Given the description of an element on the screen output the (x, y) to click on. 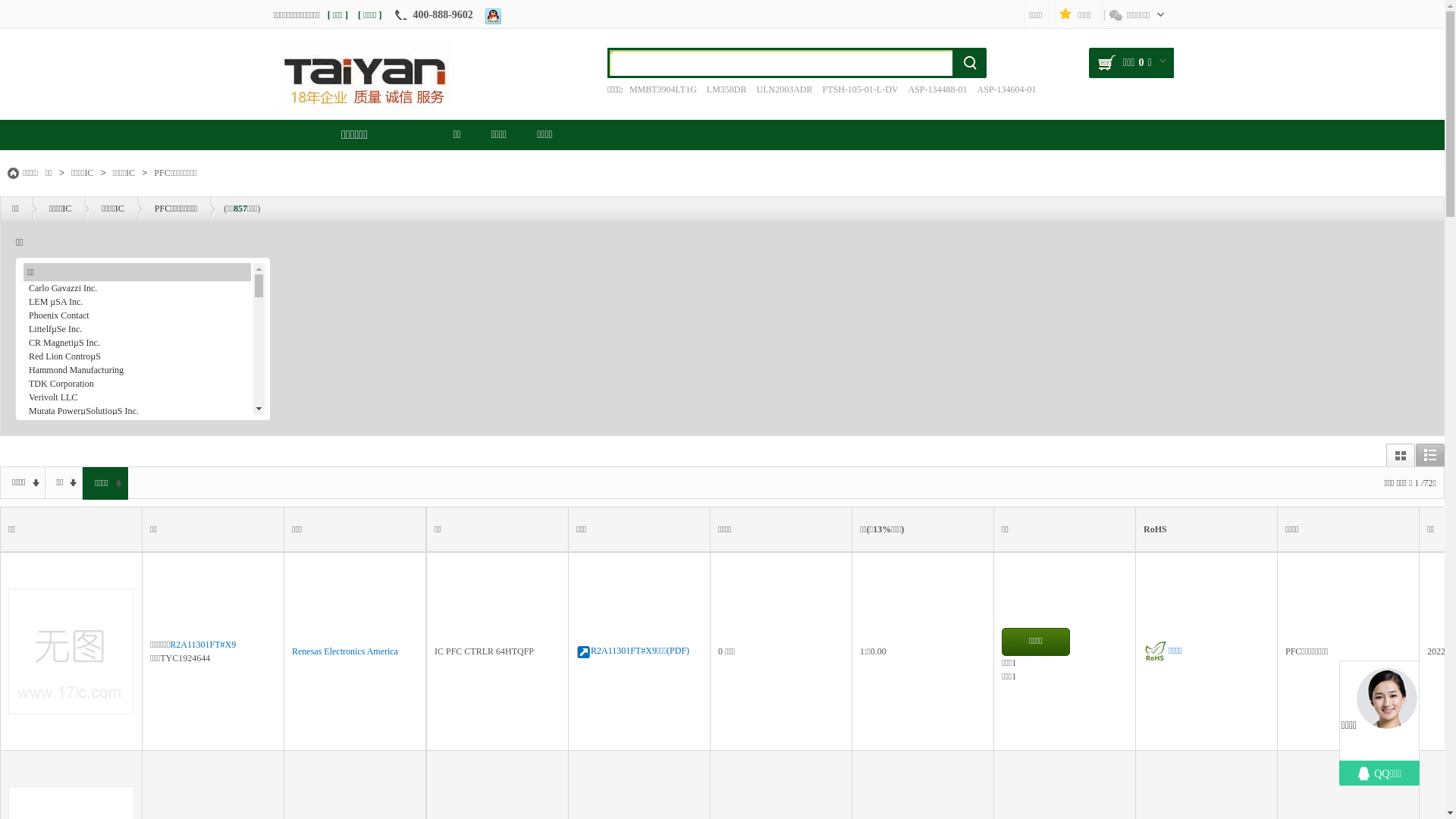
MMBT3904LT1G Element type: text (662, 89)
Renesas Electronics America Element type: text (344, 651)
FTSH-105-01-L-DV Element type: text (859, 89)
LM358DR Element type: text (726, 89)
Acme Electric/Amveco/Actown Element type: text (137, 724)
Hammond Manufacturing Element type: text (137, 369)
Triad Magnetics Element type: text (137, 656)
Pulse Electronics Power Element type: text (137, 752)
TDK Corporation Element type: text (137, 383)
Wurth Electronics Inc. Element type: text (137, 765)
R2A11301FT#X9 Element type: text (202, 644)
Signal Transformer Element type: text (137, 683)
Carlo Gavazzi Inc. Element type: text (137, 287)
TE Connectivity Potter & Brumfield Relays Element type: text (137, 697)
Verivolt LLC Element type: text (137, 397)
Bourns Inc. Element type: text (137, 779)
Seeed Technology Co., Ltd Element type: text (137, 520)
Amgis, LLC Element type: text (137, 670)
Eaton Element type: text (137, 588)
KEMET Element type: text (137, 451)
TE Connectivity Passive Product Element type: text (137, 738)
Tamura Element type: text (137, 615)
Stewart Connector Element type: text (137, 806)
MikroElektronika Element type: text (137, 465)
ASP-134604-01 Element type: text (1006, 89)
Phoenix Contact Element type: text (137, 315)
C-TON Industries Element type: text (137, 793)
ASP-134488-01 Element type: text (936, 89)
API Delevan Inc. Element type: text (137, 711)
Talema Group LLC Element type: text (137, 492)
ULN2003ADR Element type: text (783, 89)
